Given the description of an element on the screen output the (x, y) to click on. 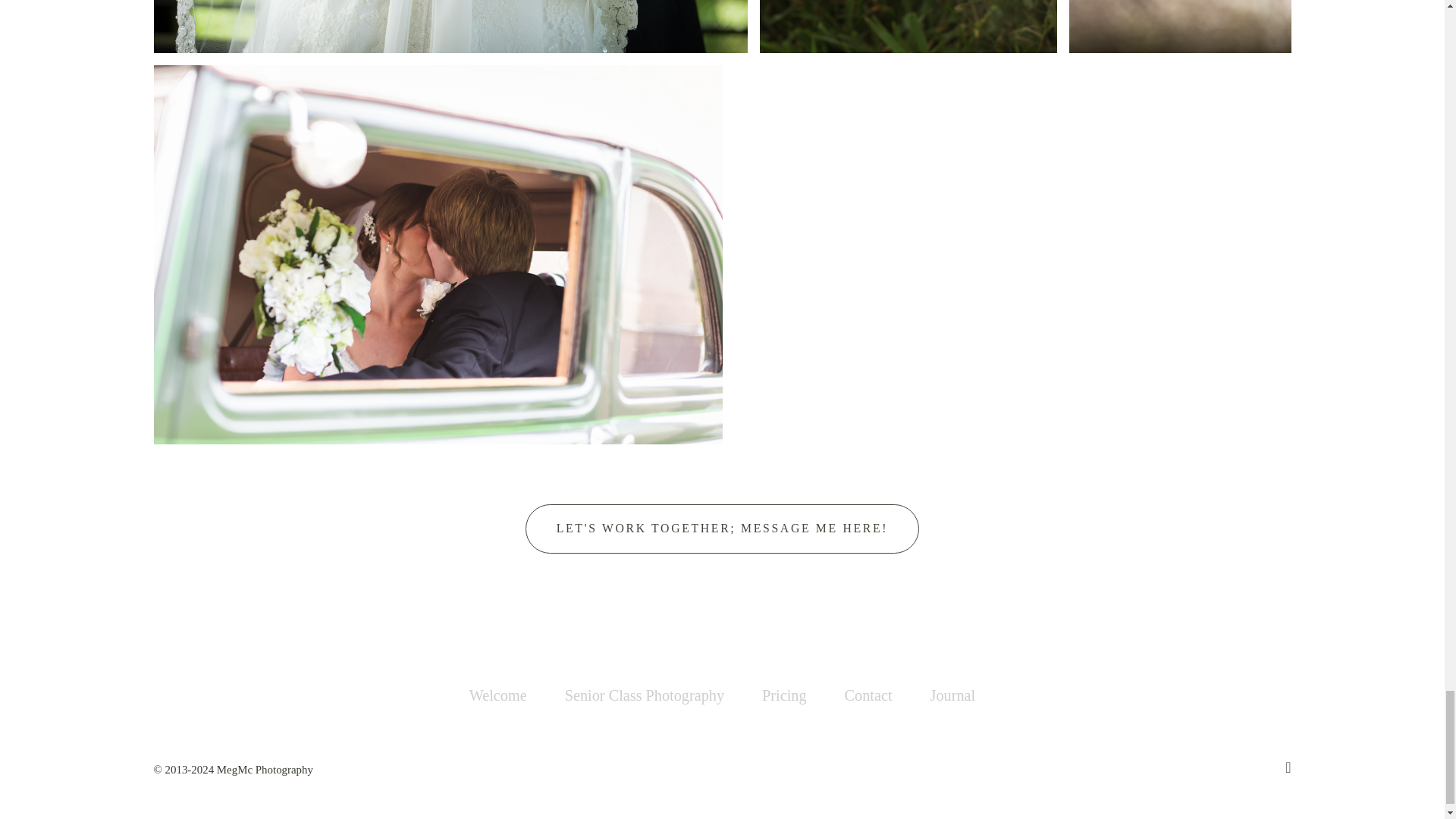
Welcome (497, 694)
Senior Class Photography (643, 694)
Pricing (783, 694)
Journal (952, 694)
Contact (868, 694)
LET'S WORK TOGETHER; MESSAGE ME HERE! (721, 528)
